Given the description of an element on the screen output the (x, y) to click on. 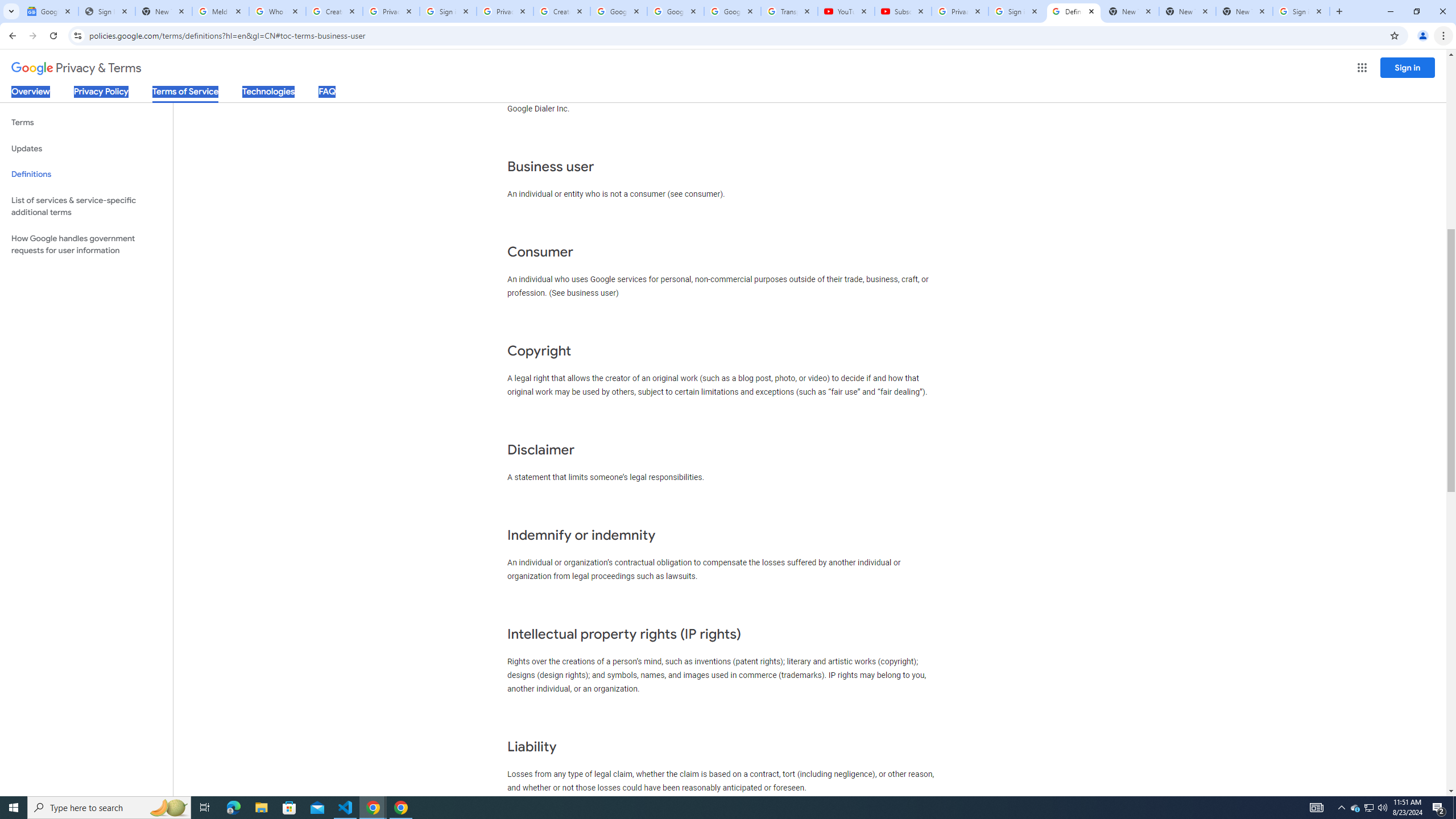
Sign in - Google Accounts (447, 11)
New Tab (1244, 11)
Subscriptions - YouTube (902, 11)
